Given the description of an element on the screen output the (x, y) to click on. 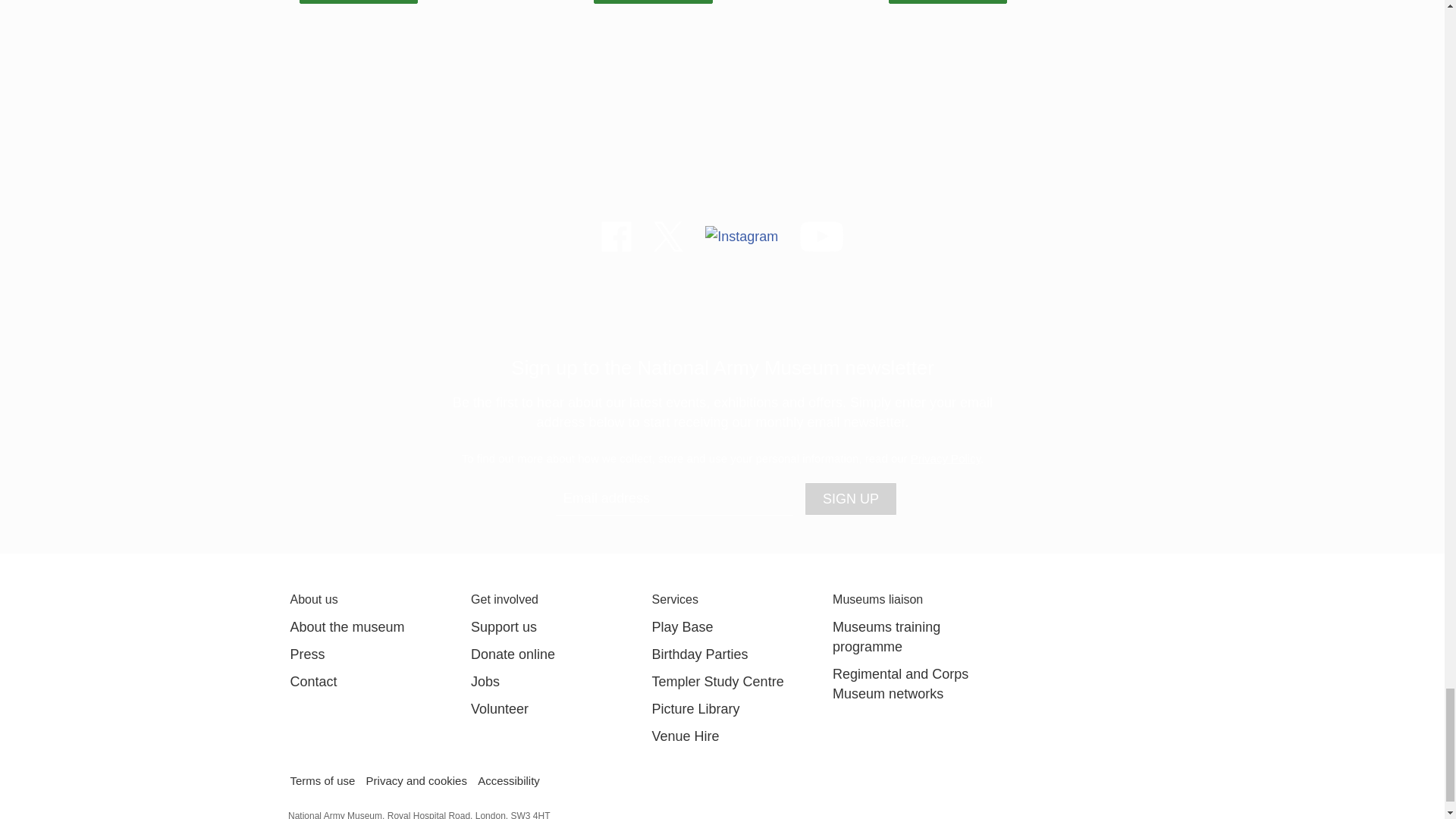
Support us (503, 626)
Privacy Policy (945, 458)
Templer Study Centre (718, 681)
Picture Library (695, 708)
Play Base (682, 626)
Donate online (512, 654)
About the museum (346, 626)
Press (306, 654)
Birthday Parties (700, 654)
Sign up (850, 498)
